Given the description of an element on the screen output the (x, y) to click on. 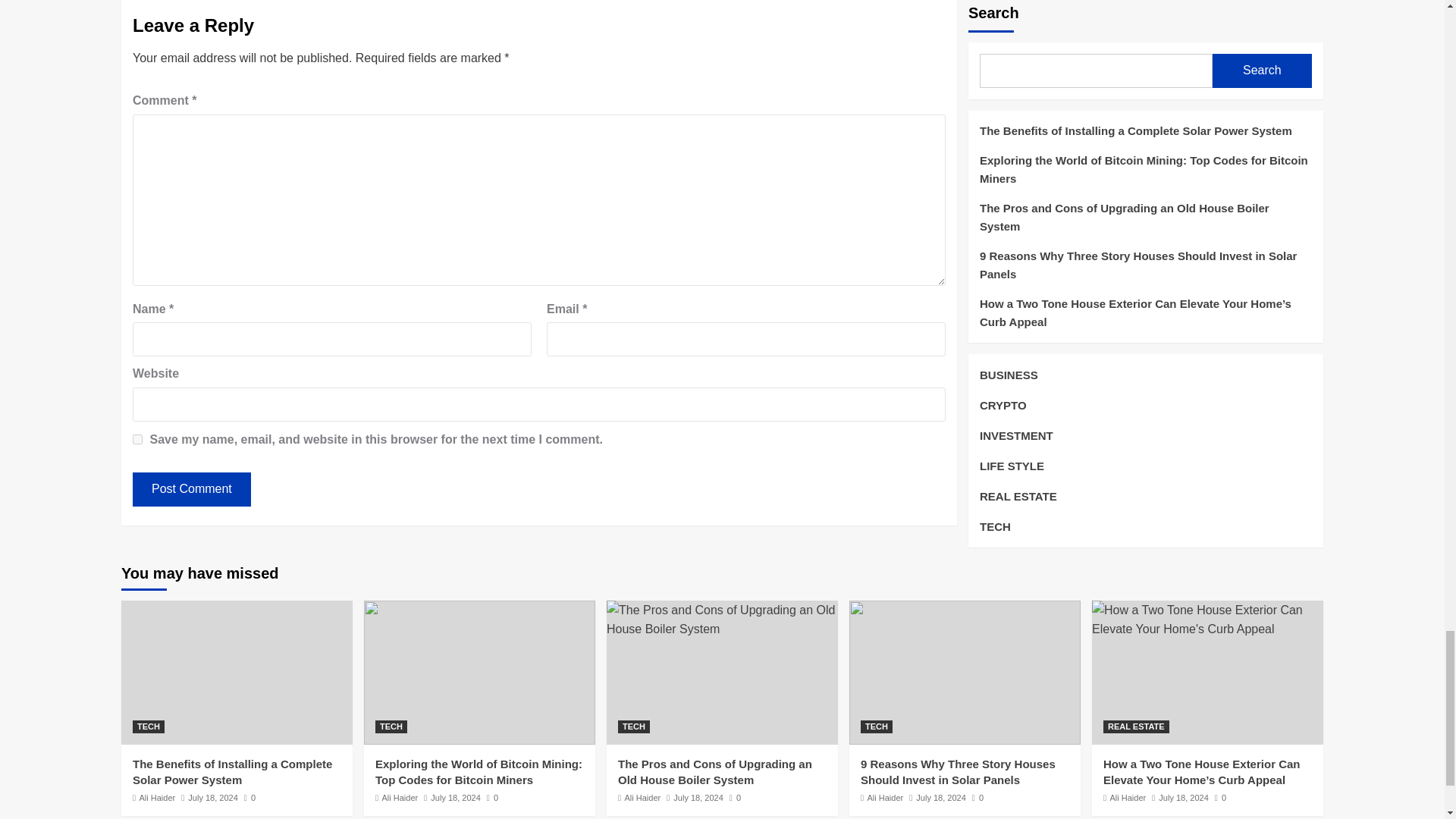
Post Comment (191, 489)
yes (137, 439)
